Given the description of an element on the screen output the (x, y) to click on. 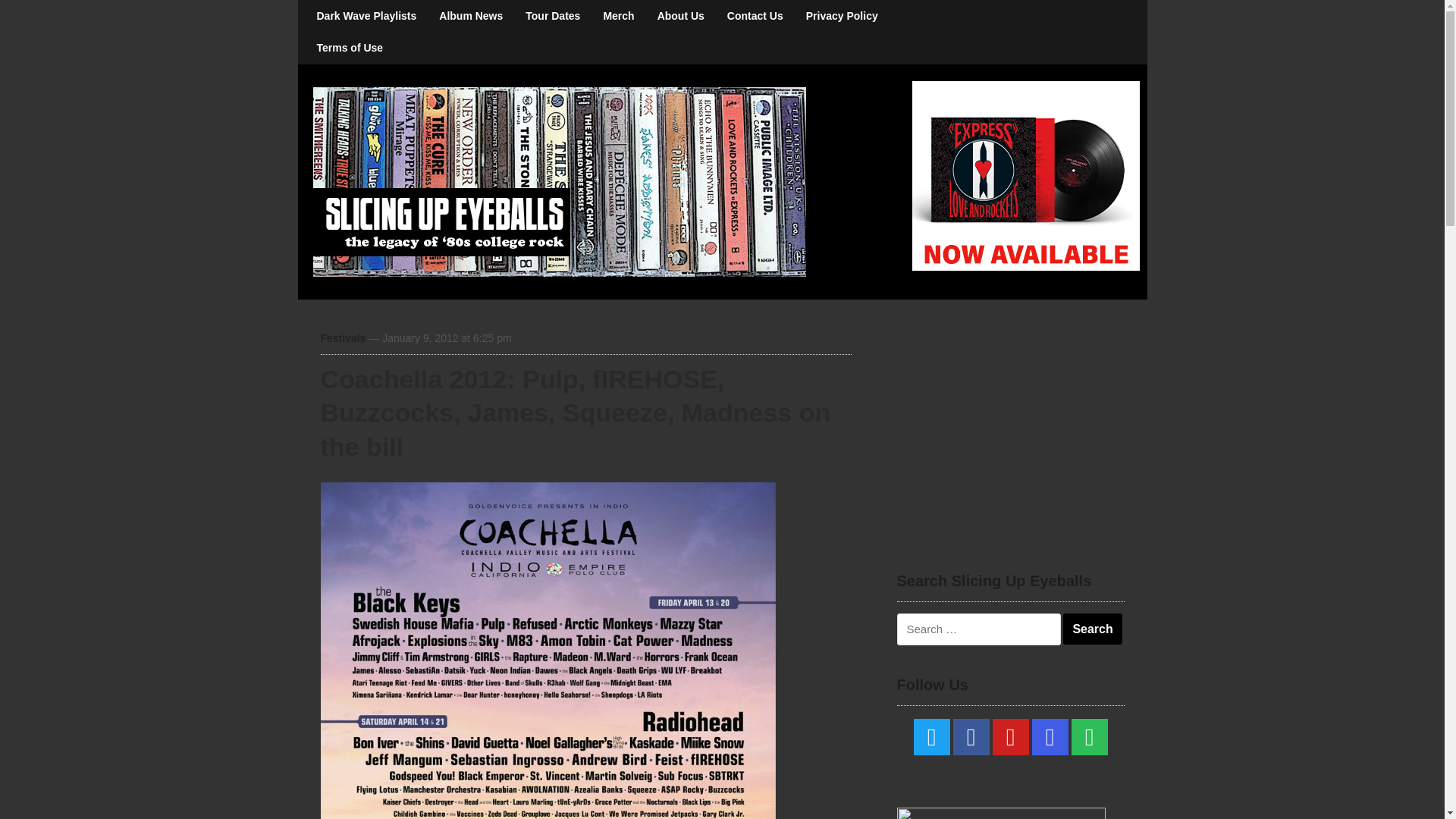
Merch (618, 15)
About Us (681, 15)
Privacy Policy (841, 15)
Contact Us (755, 15)
Dark Wave Playlists (366, 15)
Album News (470, 15)
Search (1091, 629)
'80s College Rock, Alternative Music, Indie (559, 180)
Terms of Use (349, 47)
Search (1091, 629)
Tour Dates (552, 15)
Festivals (342, 337)
